Given the description of an element on the screen output the (x, y) to click on. 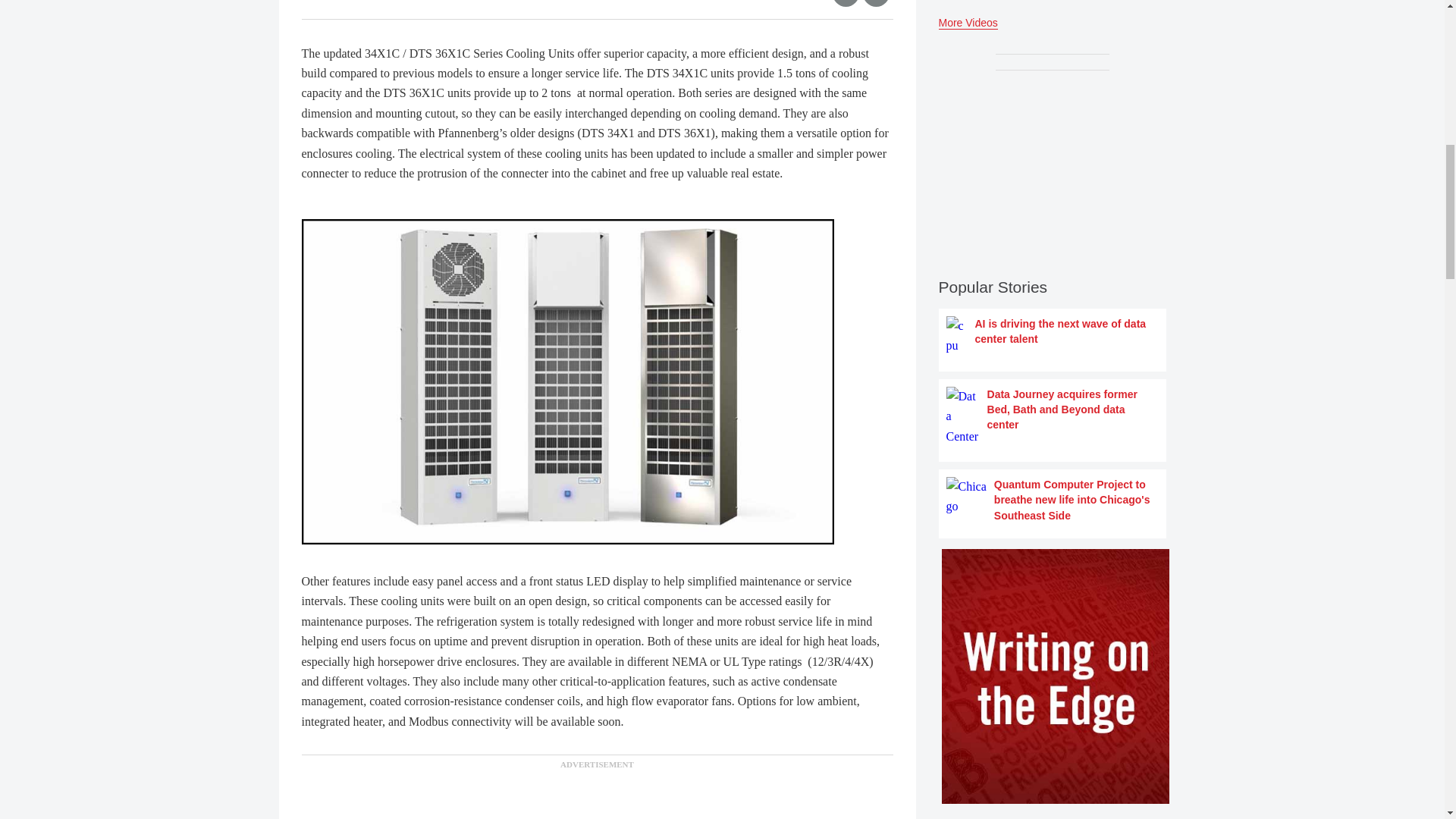
AI is driving the next wave of data center talent (1052, 336)
